Given the description of an element on the screen output the (x, y) to click on. 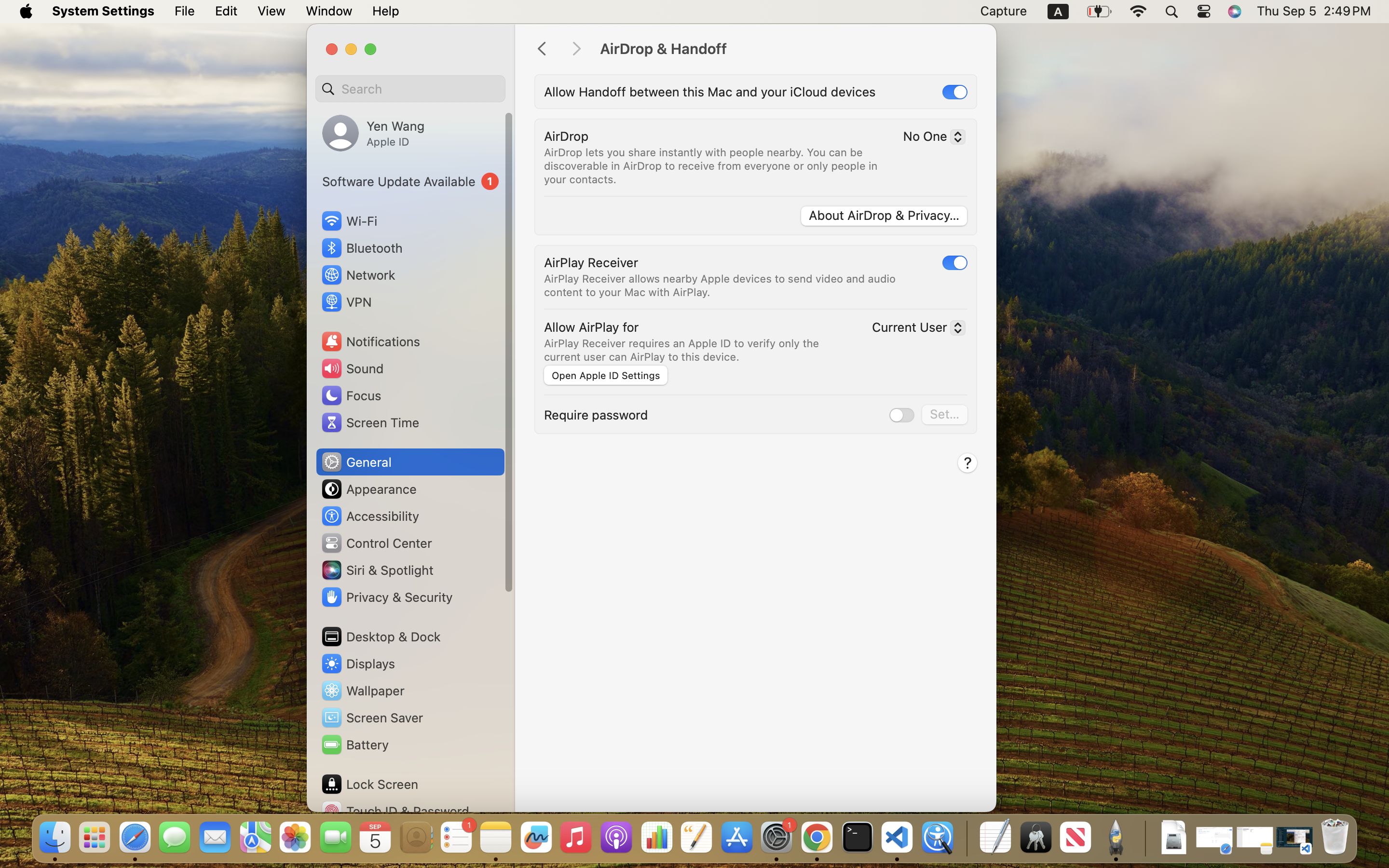
Allow Handoff between this Mac and your iCloud devices Element type: AXStaticText (709, 91)
Touch ID & Password Element type: AXStaticText (394, 810)
Yen Wang, Apple ID Element type: AXStaticText (373, 132)
Focus Element type: AXStaticText (350, 394)
AirDrop & Handoff Element type: AXStaticText (788, 49)
